Given the description of an element on the screen output the (x, y) to click on. 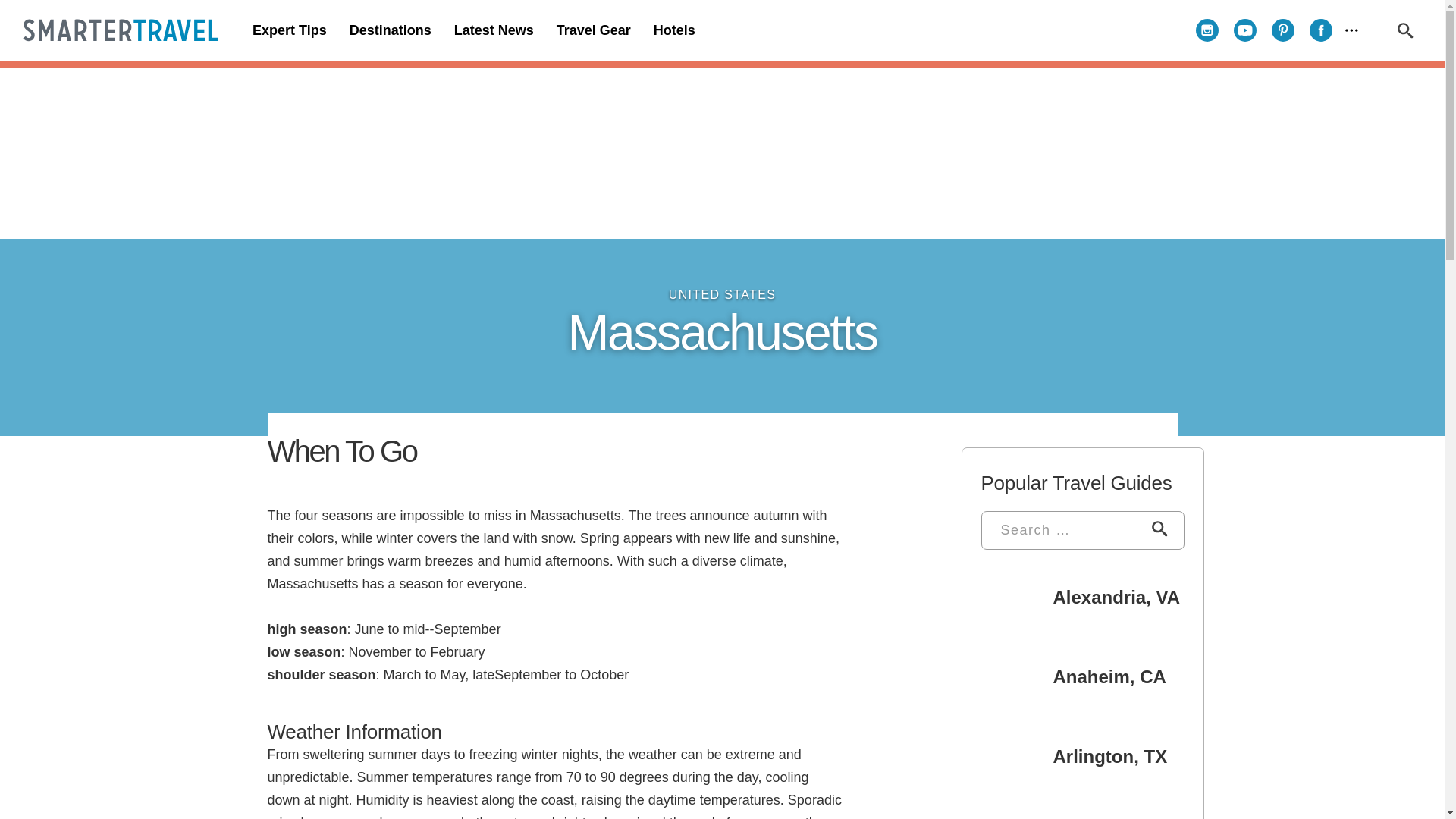
Destinations (389, 30)
Travel Gear (593, 30)
Expert Tips (289, 30)
Hotels (674, 30)
Latest News (493, 30)
Search for:  (1058, 529)
